Given the description of an element on the screen output the (x, y) to click on. 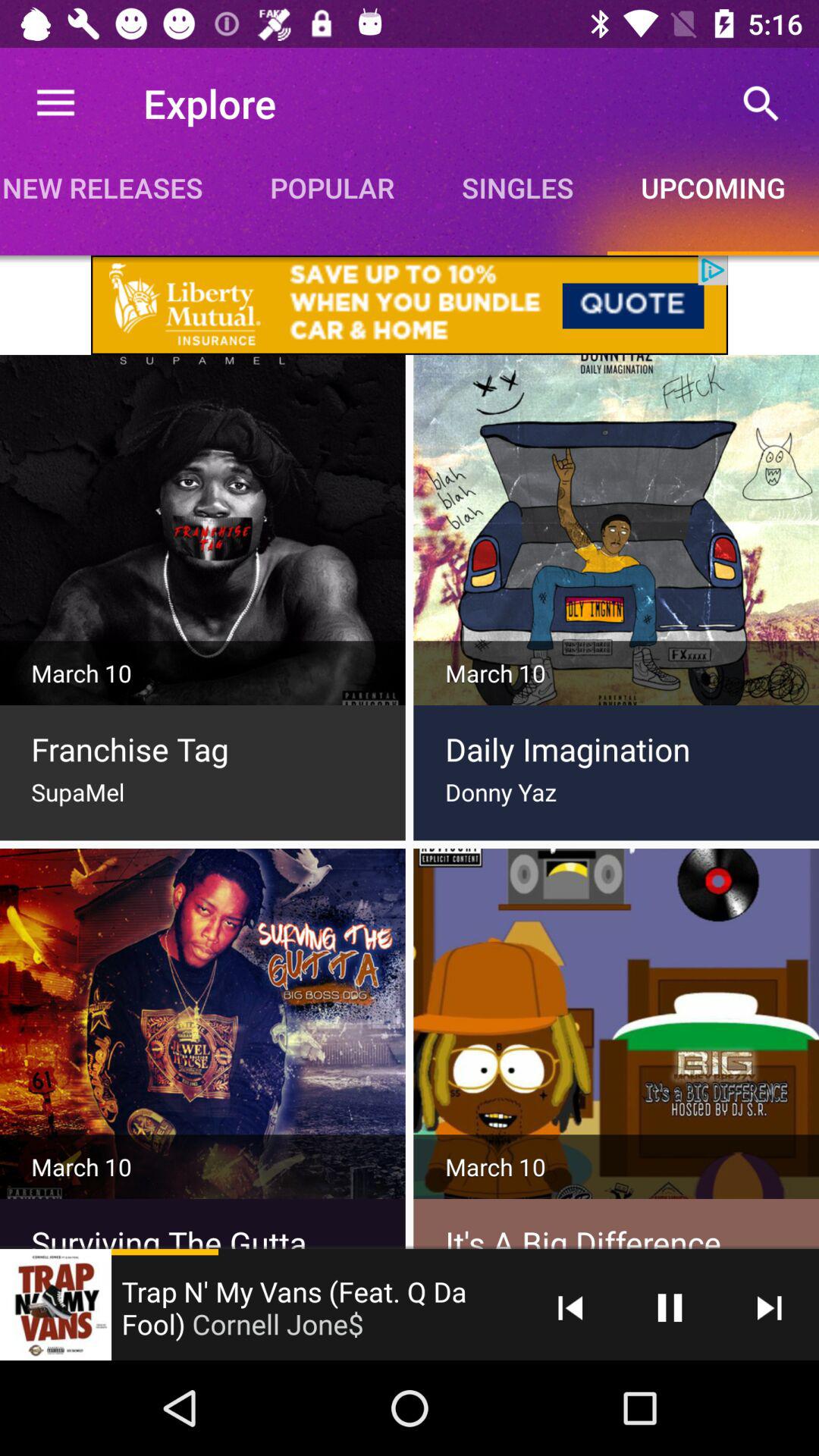
press the item to the left of the explore app (55, 103)
